Given the description of an element on the screen output the (x, y) to click on. 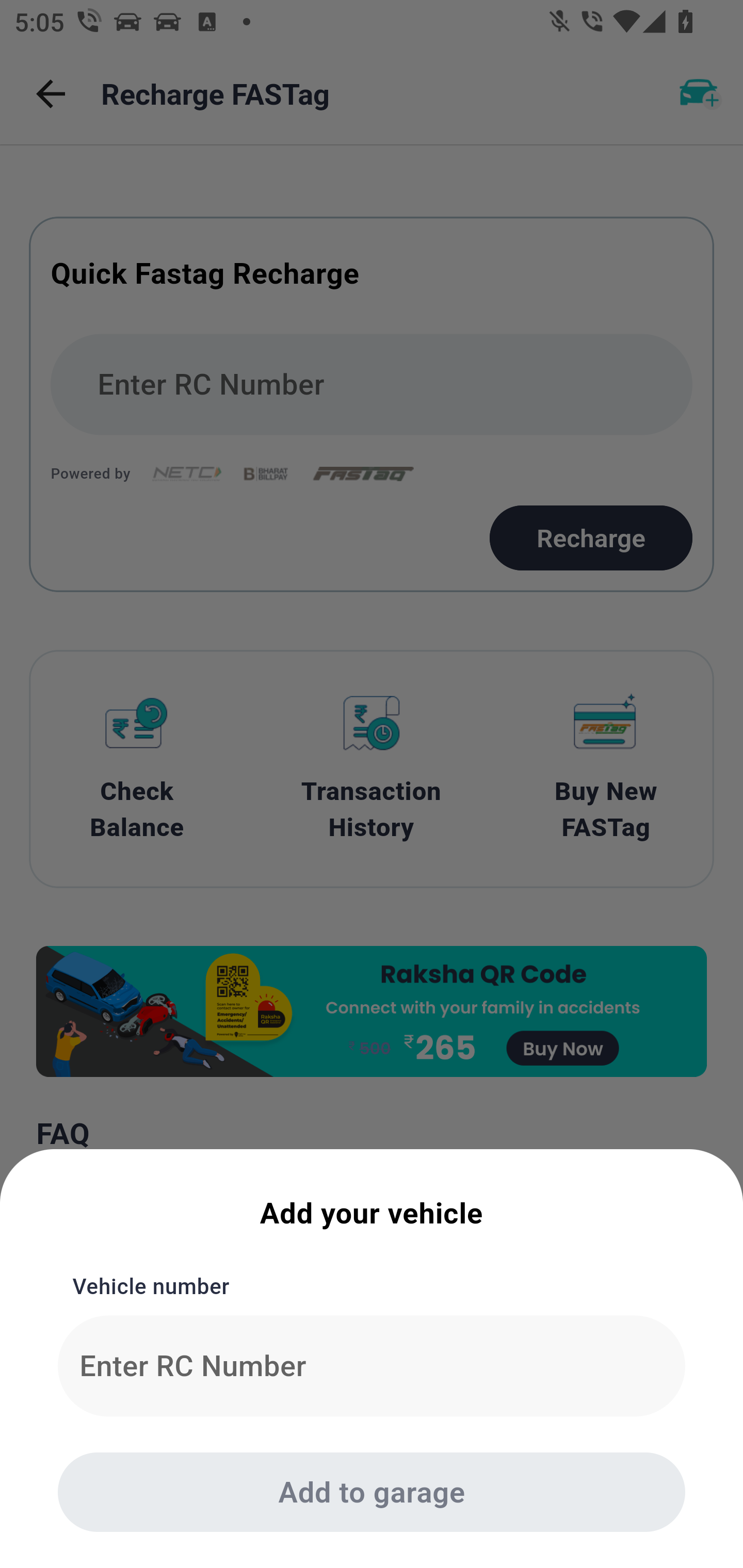
Add to garage (371, 1491)
